Given the description of an element on the screen output the (x, y) to click on. 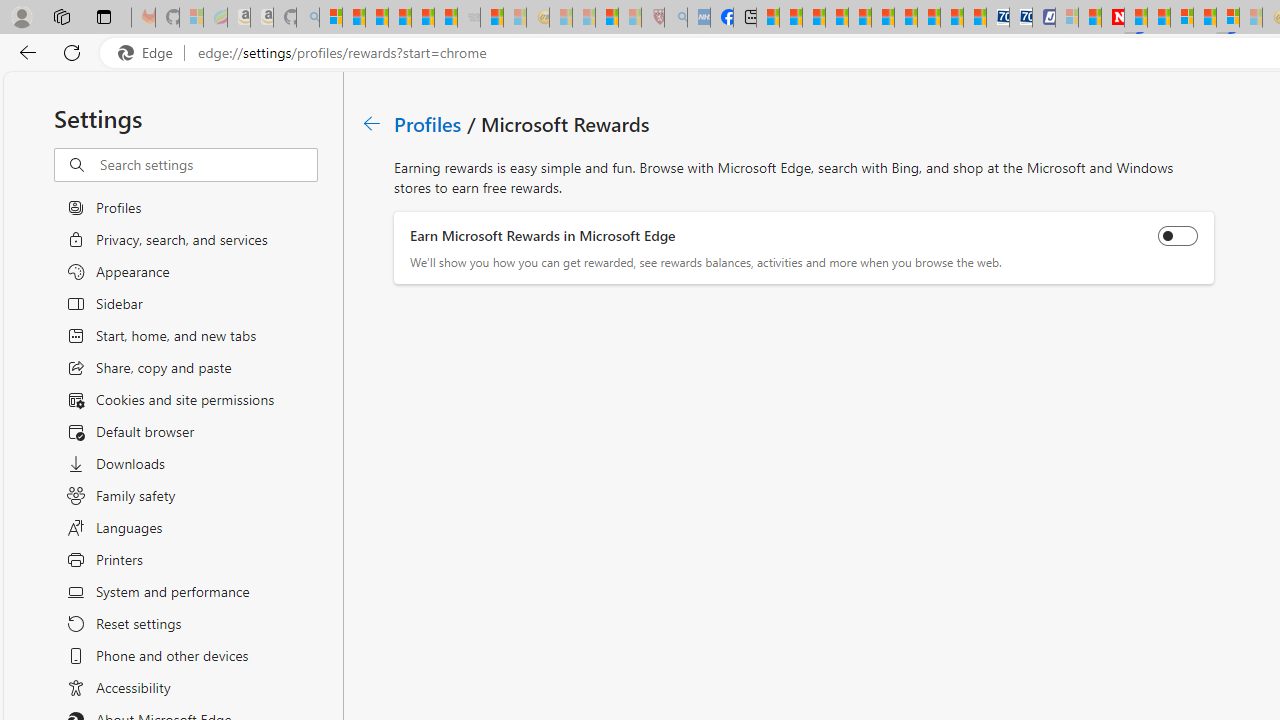
Earn Microsoft Rewards in Microsoft Edge (1178, 236)
Edge (150, 53)
Climate Damage Becomes Too Severe To Reverse (836, 17)
Profiles (429, 123)
Latest Politics News & Archive | Newsweek.com (1112, 17)
Cheap Hotels - Save70.com (1020, 17)
